Given the description of an element on the screen output the (x, y) to click on. 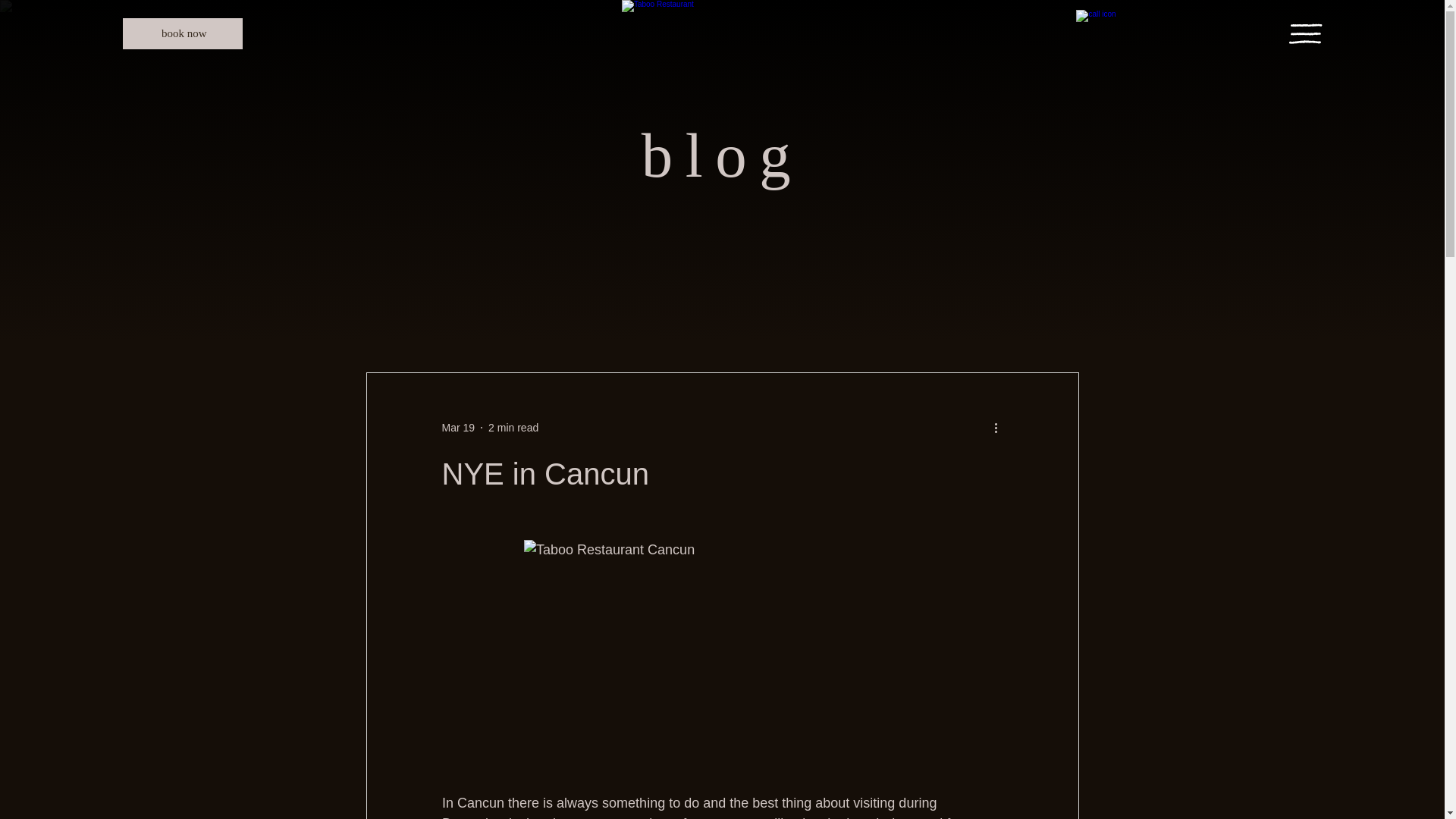
2 min read (512, 427)
book now (182, 33)
Mar 19 (457, 427)
